Given the description of an element on the screen output the (x, y) to click on. 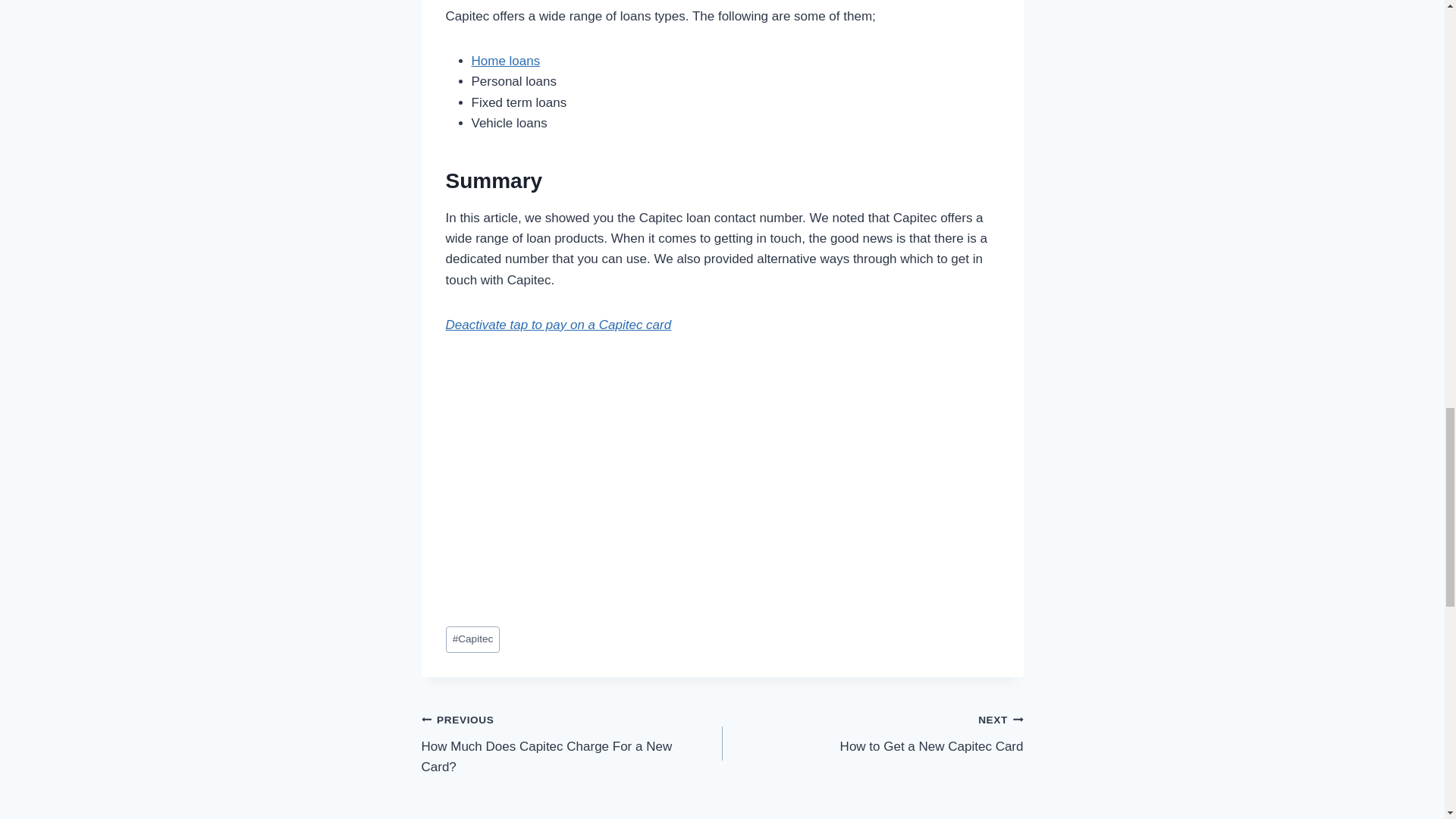
Deactivate tap to pay on a Capitec card (558, 324)
Home loans (505, 60)
Capitec (572, 743)
